Given the description of an element on the screen output the (x, y) to click on. 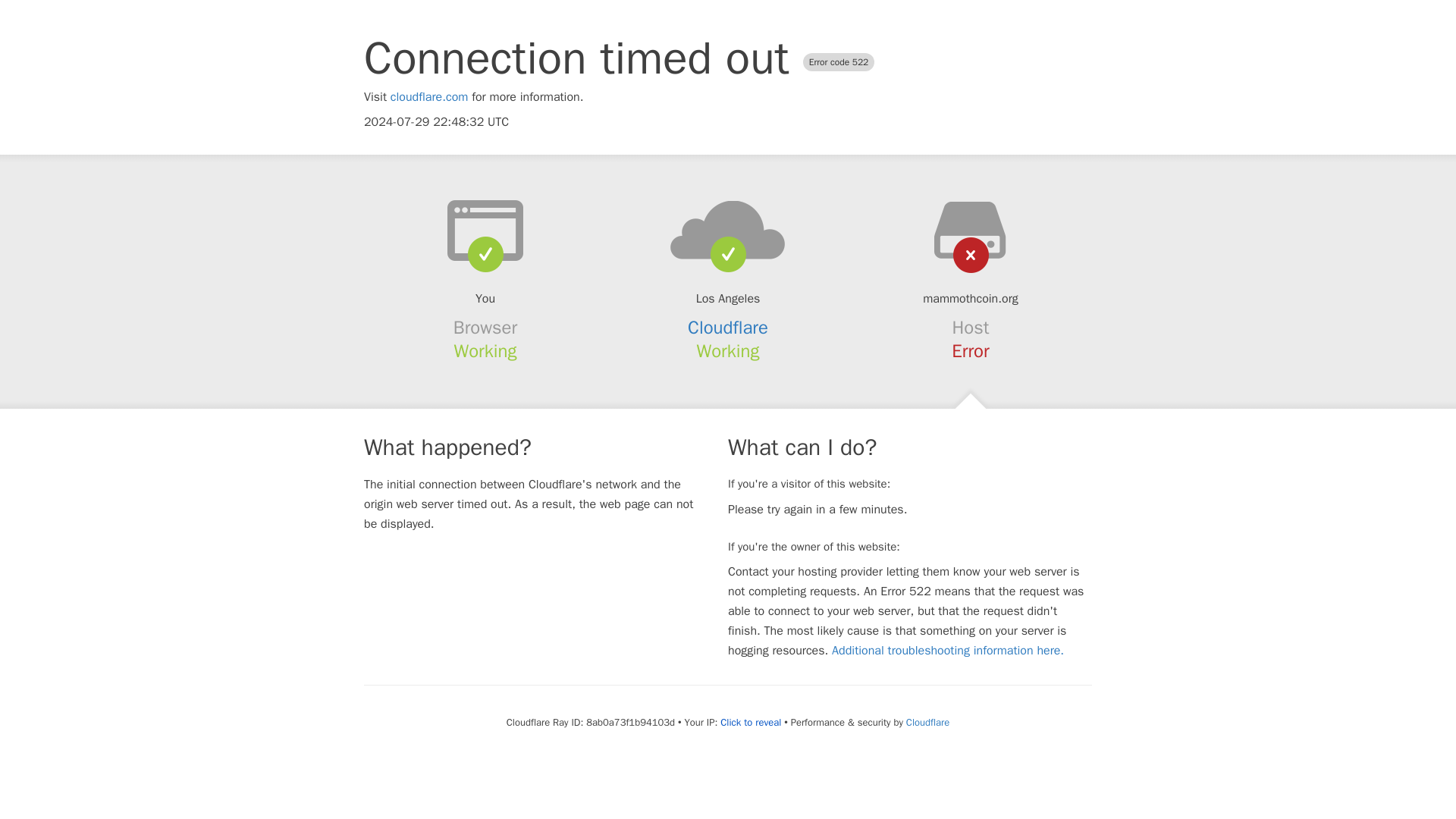
Cloudflare (927, 721)
Click to reveal (750, 722)
Additional troubleshooting information here. (947, 650)
cloudflare.com (429, 96)
Cloudflare (727, 327)
